Given the description of an element on the screen output the (x, y) to click on. 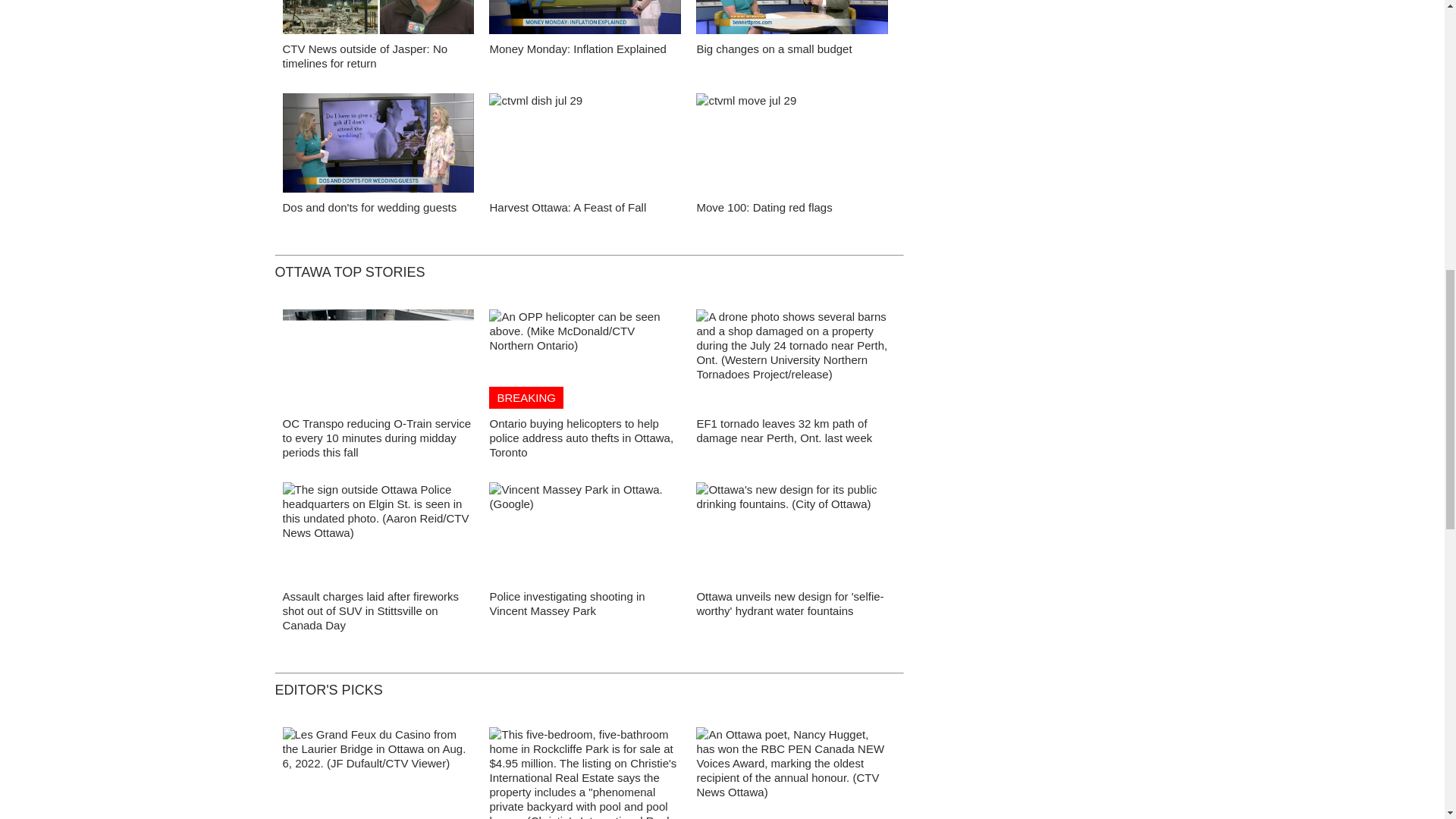
CTV News outside of Jasper: No timelines for return (364, 55)
Dos and don'ts for wedding guests (369, 206)
Big changes on a small budget (773, 48)
false (791, 142)
false (585, 17)
false (791, 17)
false (378, 17)
Money Monday: Inflation Explained (577, 48)
false (585, 142)
false (378, 142)
Move 100: Dating red flags (763, 206)
